Given the description of an element on the screen output the (x, y) to click on. 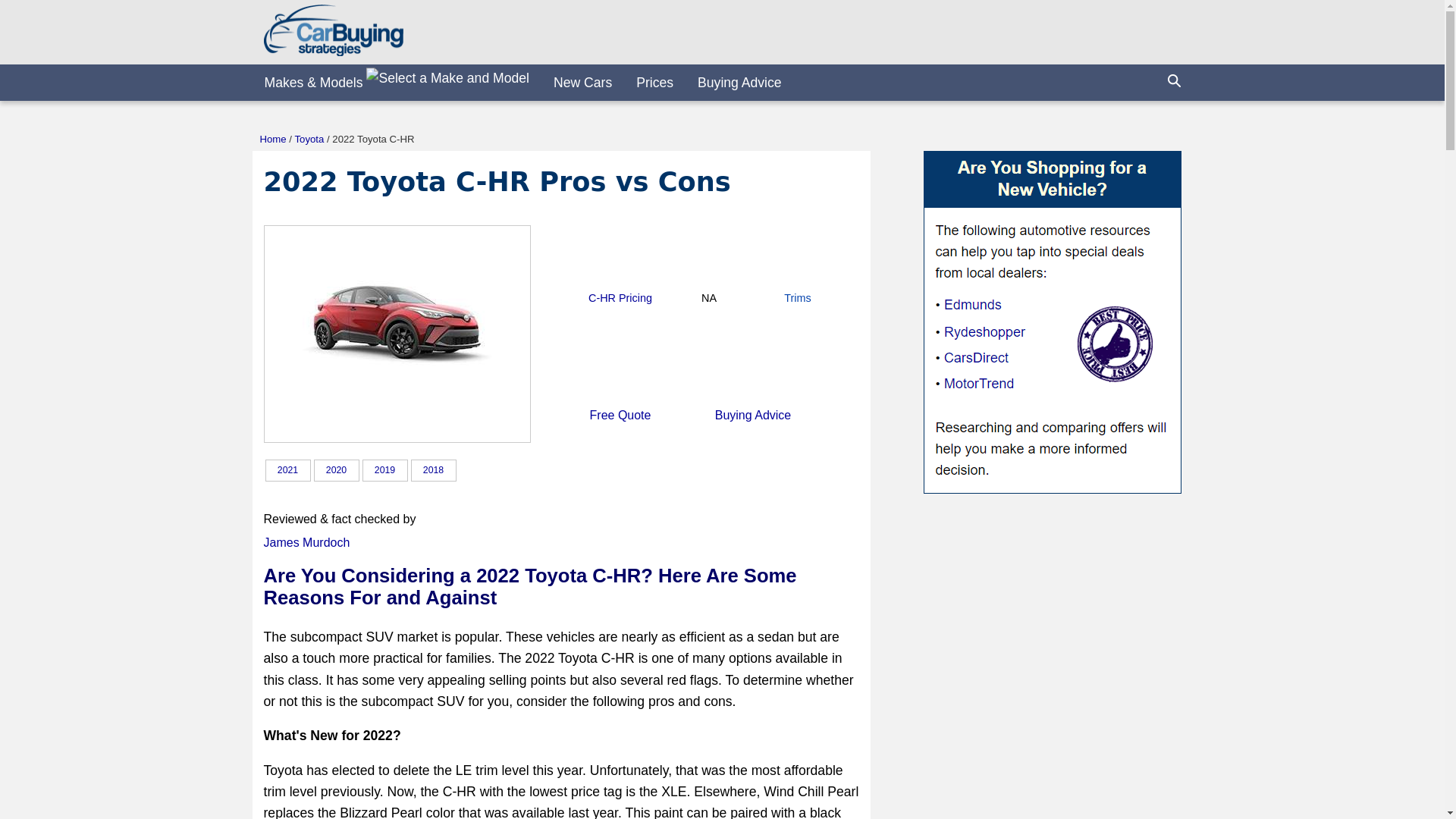
Toyota (308, 138)
2019 (384, 469)
Prices (654, 82)
Free Quote (619, 414)
2020 (336, 469)
2018 (433, 469)
Home (272, 138)
Buying Advice (753, 414)
C-HR Pricing (620, 297)
Buying Advice (739, 82)
2021 (531, 470)
New Cars (288, 469)
